Given the description of an element on the screen output the (x, y) to click on. 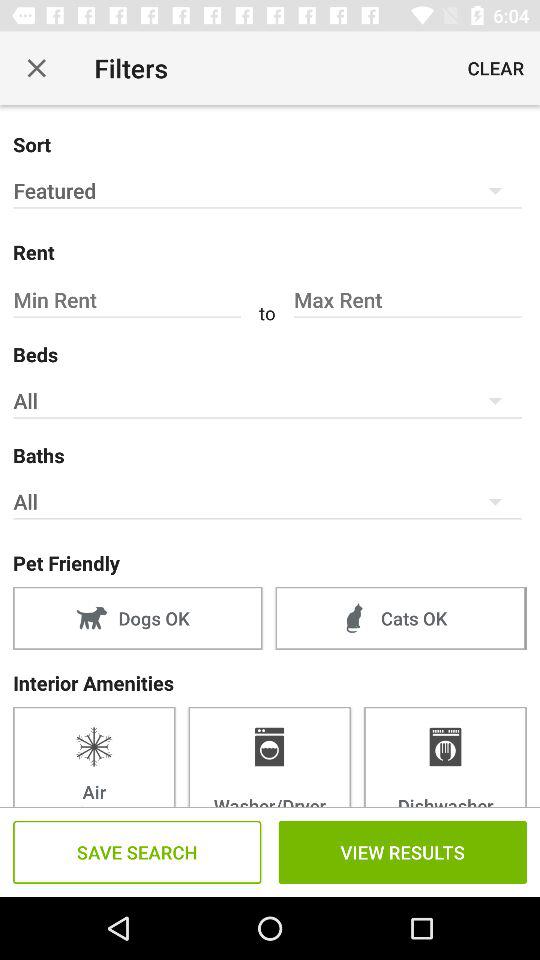
tap icon next to the filters item (36, 68)
